Given the description of an element on the screen output the (x, y) to click on. 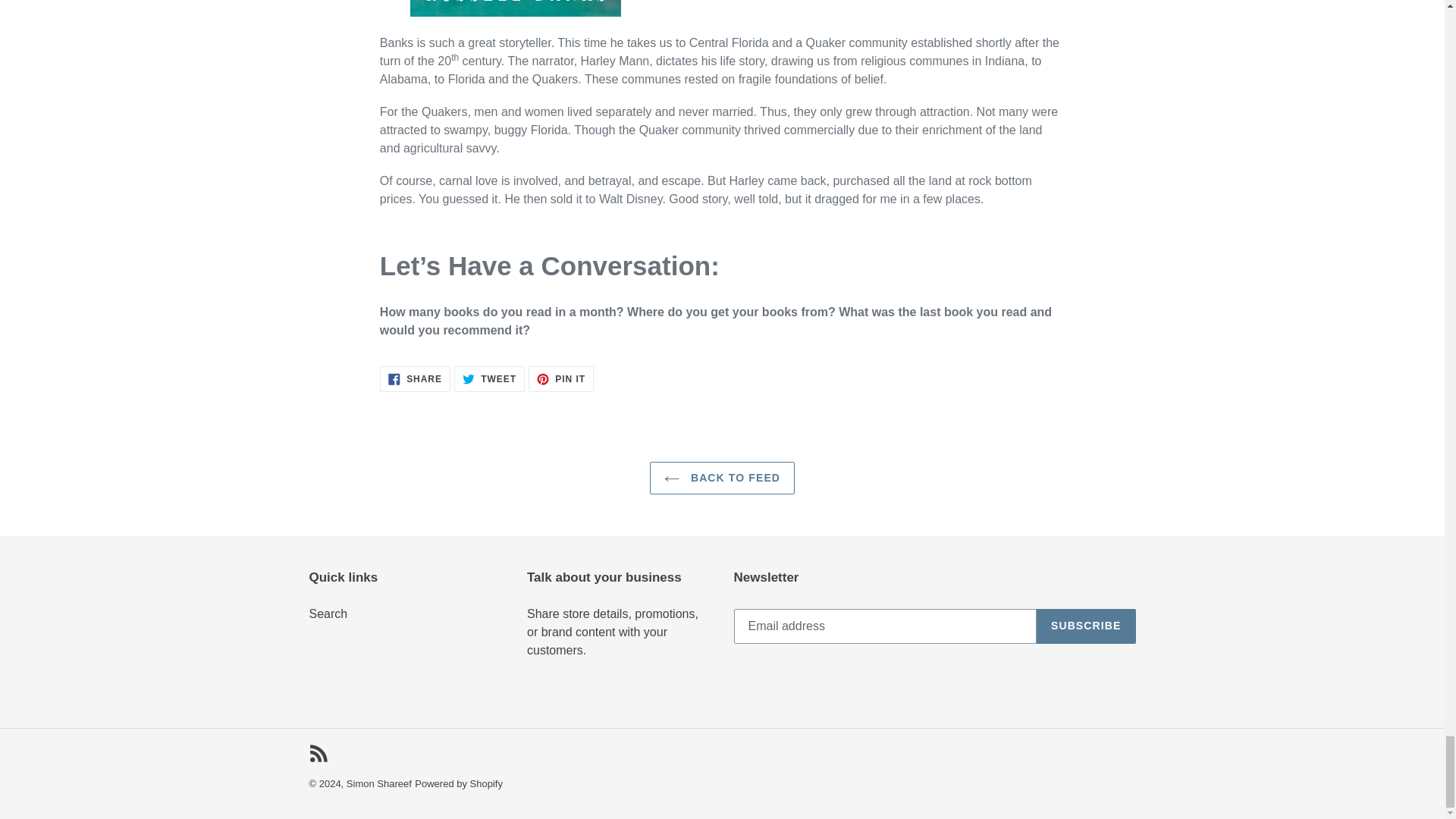
BACK TO FEED (414, 379)
Simon Shareef (721, 477)
RSS (379, 783)
Search (561, 379)
Powered by Shopify (318, 752)
SUBSCRIBE (327, 613)
